Given the description of an element on the screen output the (x, y) to click on. 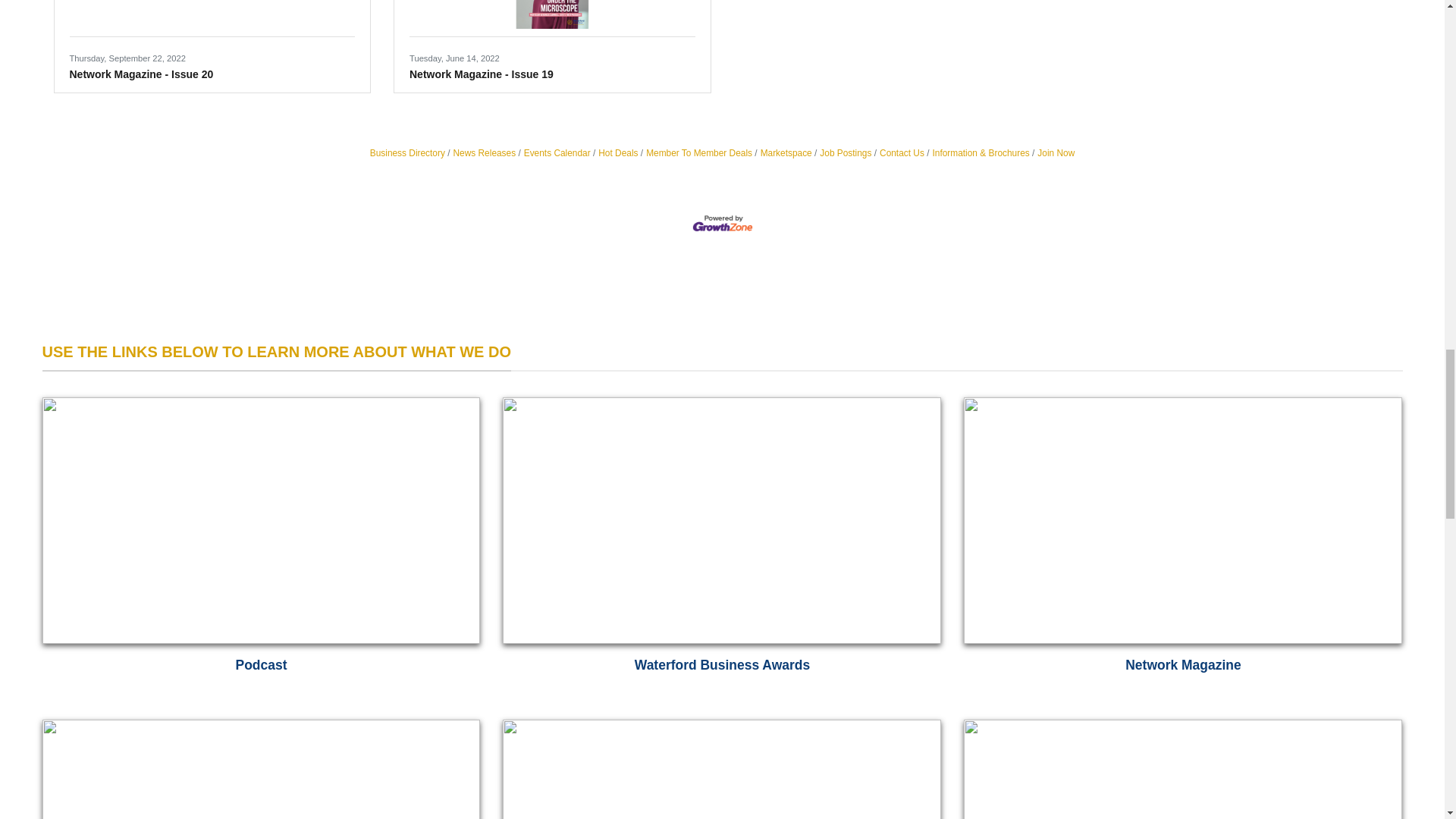
Podcast (261, 546)
Network Magazine (1182, 546)
Networking (1182, 769)
Regional Leaders Programme (261, 769)
International Trade Services (721, 769)
Waterford Business Awards (721, 546)
